Given the description of an element on the screen output the (x, y) to click on. 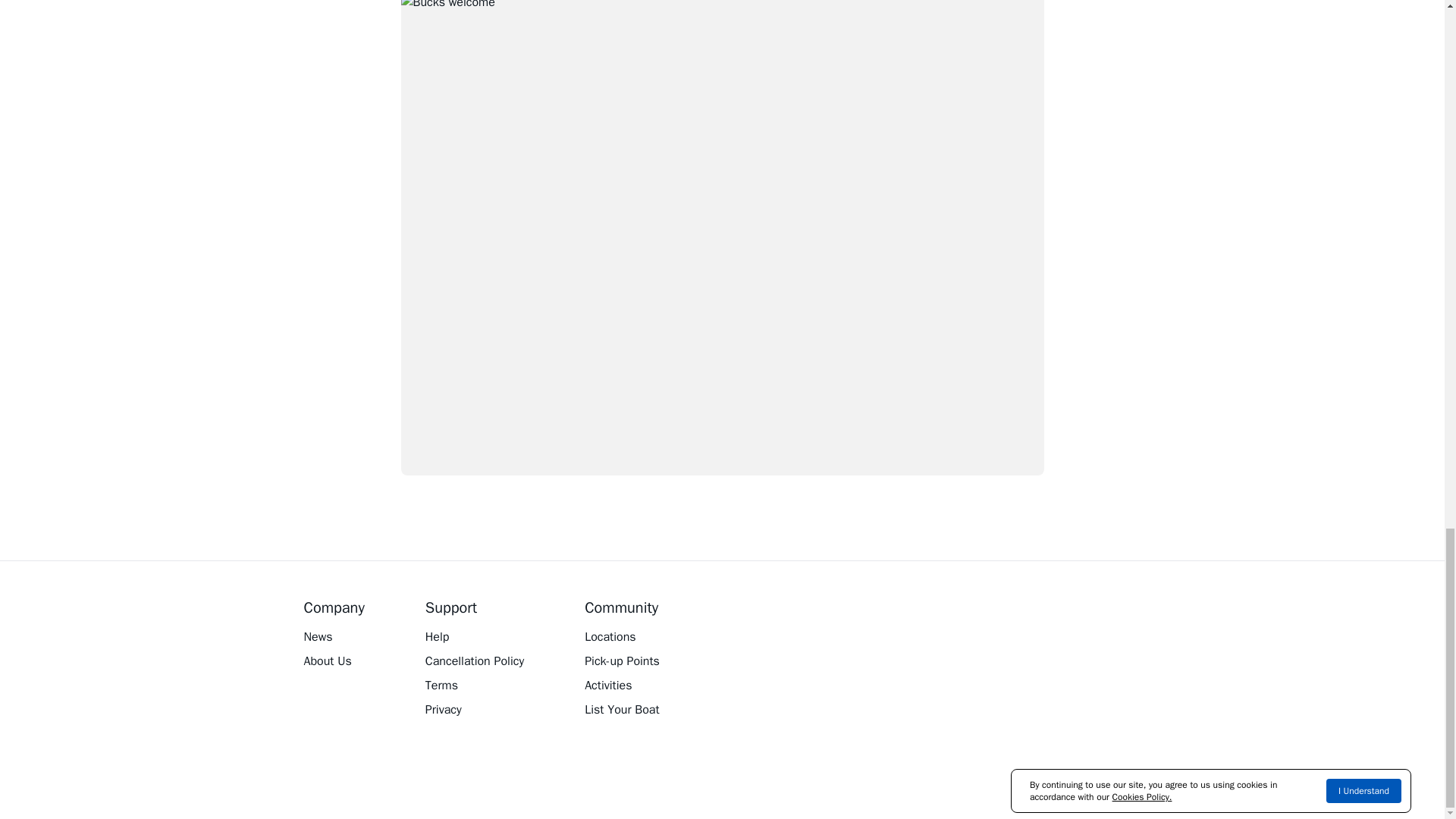
Cancellation Policy (474, 661)
Activities (622, 685)
About Us (333, 661)
Locations (622, 636)
Help (474, 636)
List Your Boat (622, 709)
Pick-up Points (622, 661)
News (333, 636)
Terms (474, 685)
Privacy (474, 709)
